Given the description of an element on the screen output the (x, y) to click on. 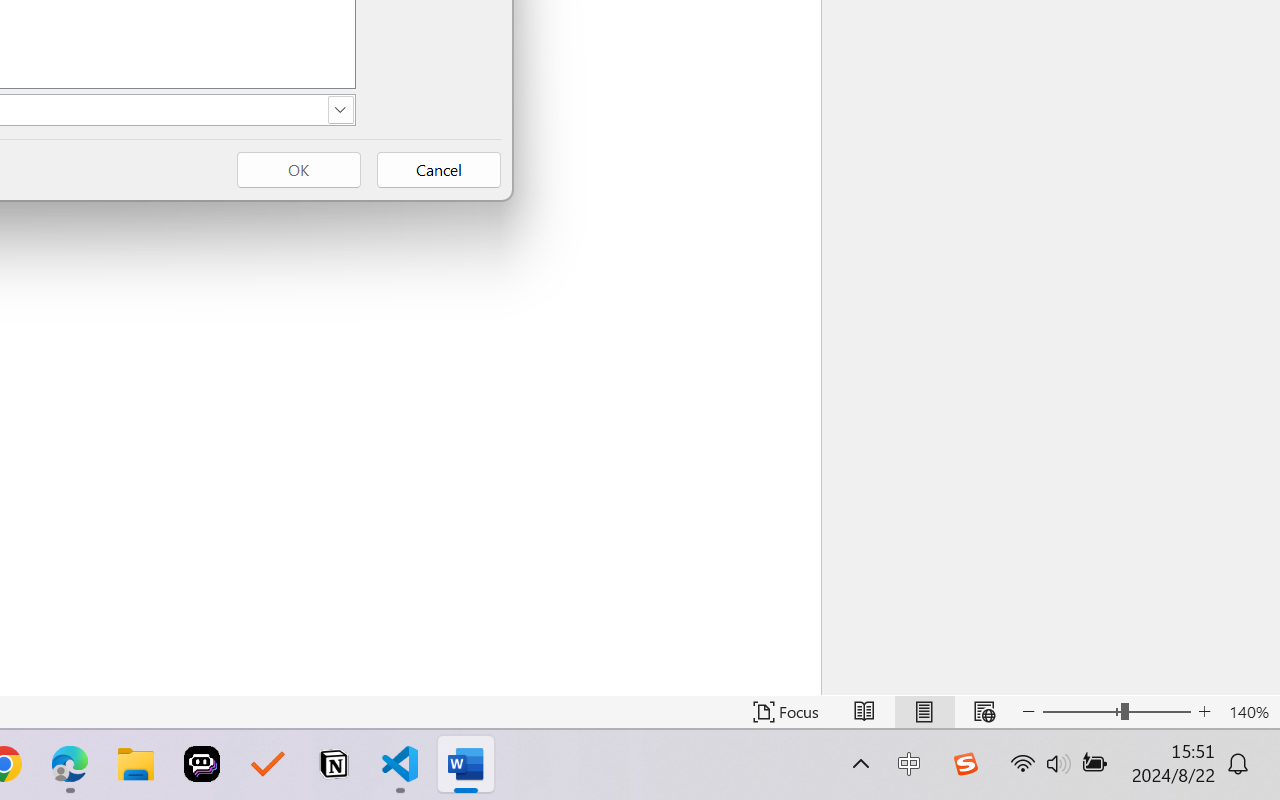
Focus  (786, 712)
Web Layout (984, 712)
Poe (201, 764)
Zoom (1116, 712)
